Given the description of an element on the screen output the (x, y) to click on. 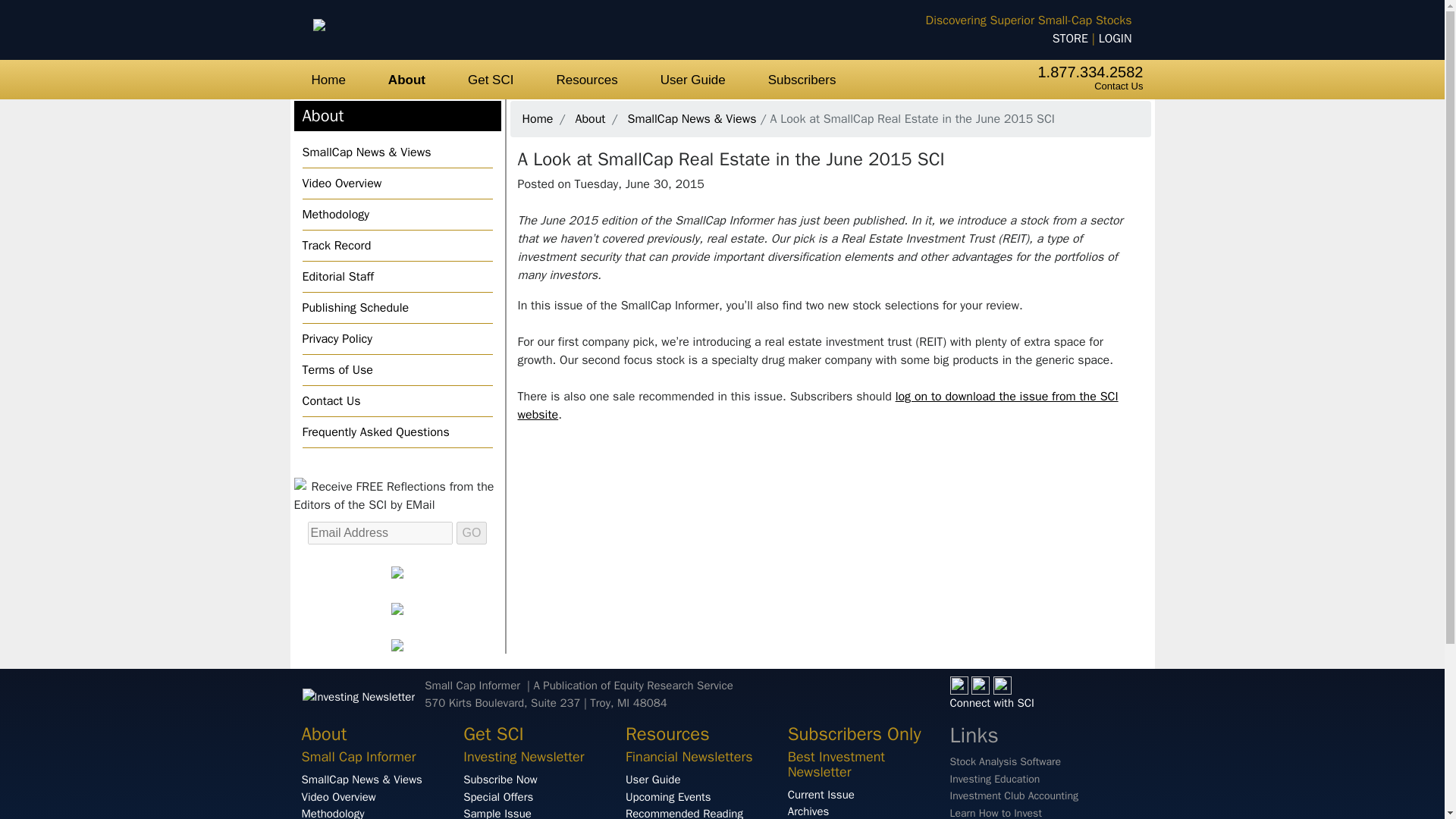
Contact Us (1118, 85)
Video Overview (396, 183)
About (405, 79)
log on to download the issue from the SCI website (817, 405)
Track Record (396, 245)
About (590, 118)
LOGIN (1115, 38)
Frequently Asked Questions (396, 431)
Get SCI (490, 79)
GO (472, 532)
Contact Us (396, 400)
Publishing Schedule (396, 307)
GO (472, 532)
Subscribers (802, 79)
Home (327, 79)
